Given the description of an element on the screen output the (x, y) to click on. 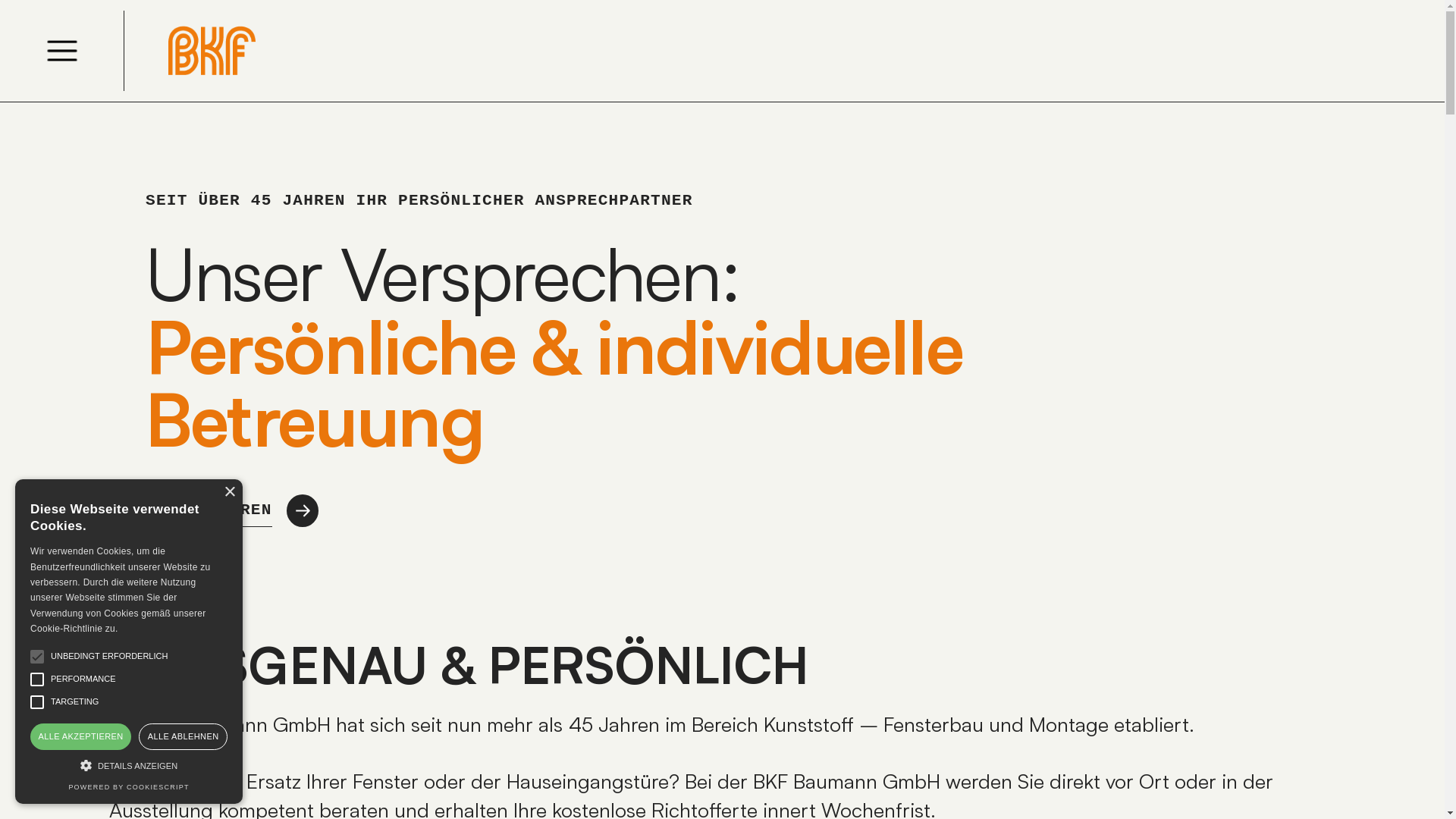
POWERED BY COOKIESCRIPT Element type: text (128, 786)
KONTAKTIEREN Element type: text (556, 510)
